Given the description of an element on the screen output the (x, y) to click on. 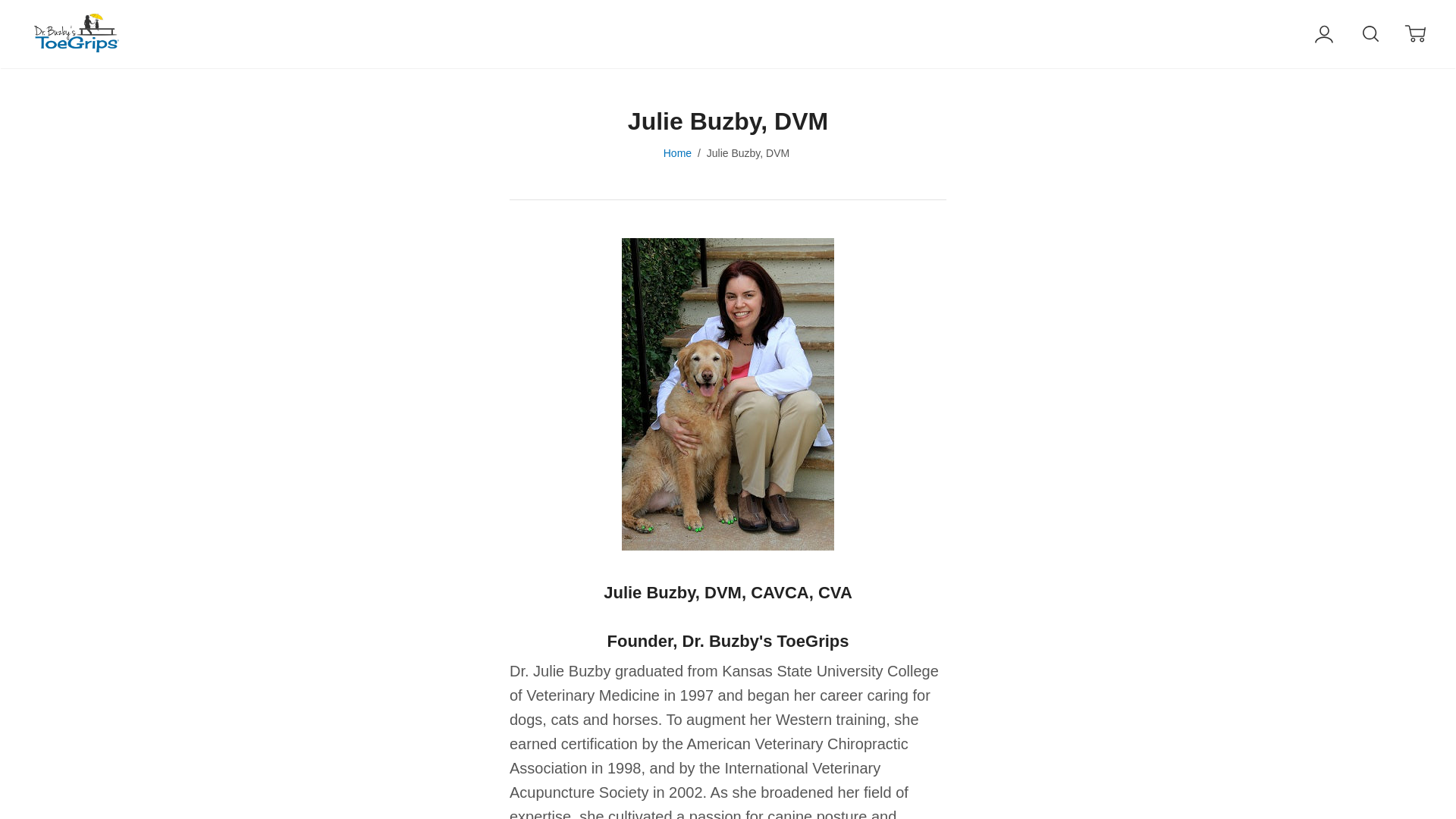
Back to the frontpage (678, 152)
